Given the description of an element on the screen output the (x, y) to click on. 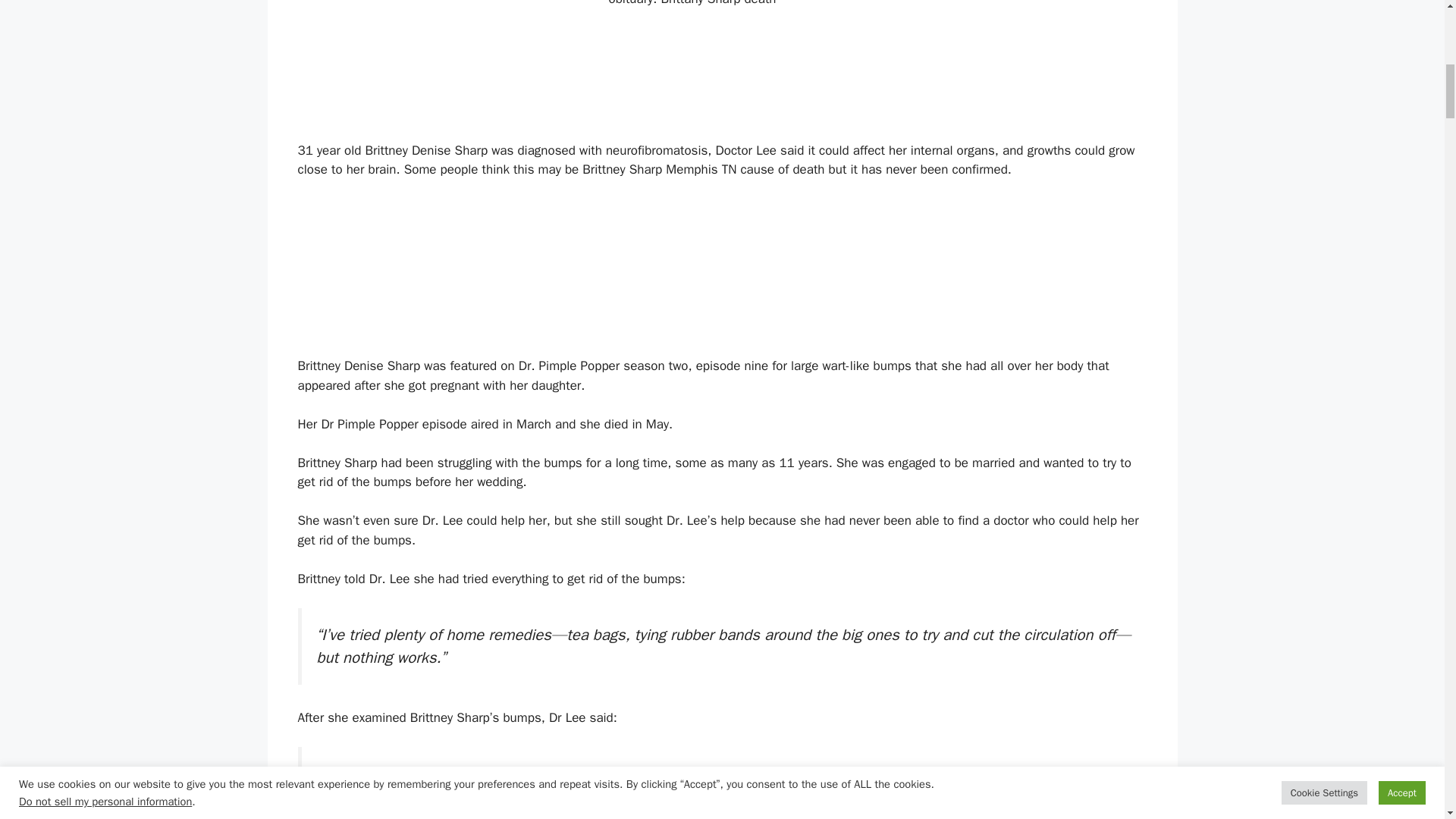
Scroll back to top (1406, 720)
